Given the description of an element on the screen output the (x, y) to click on. 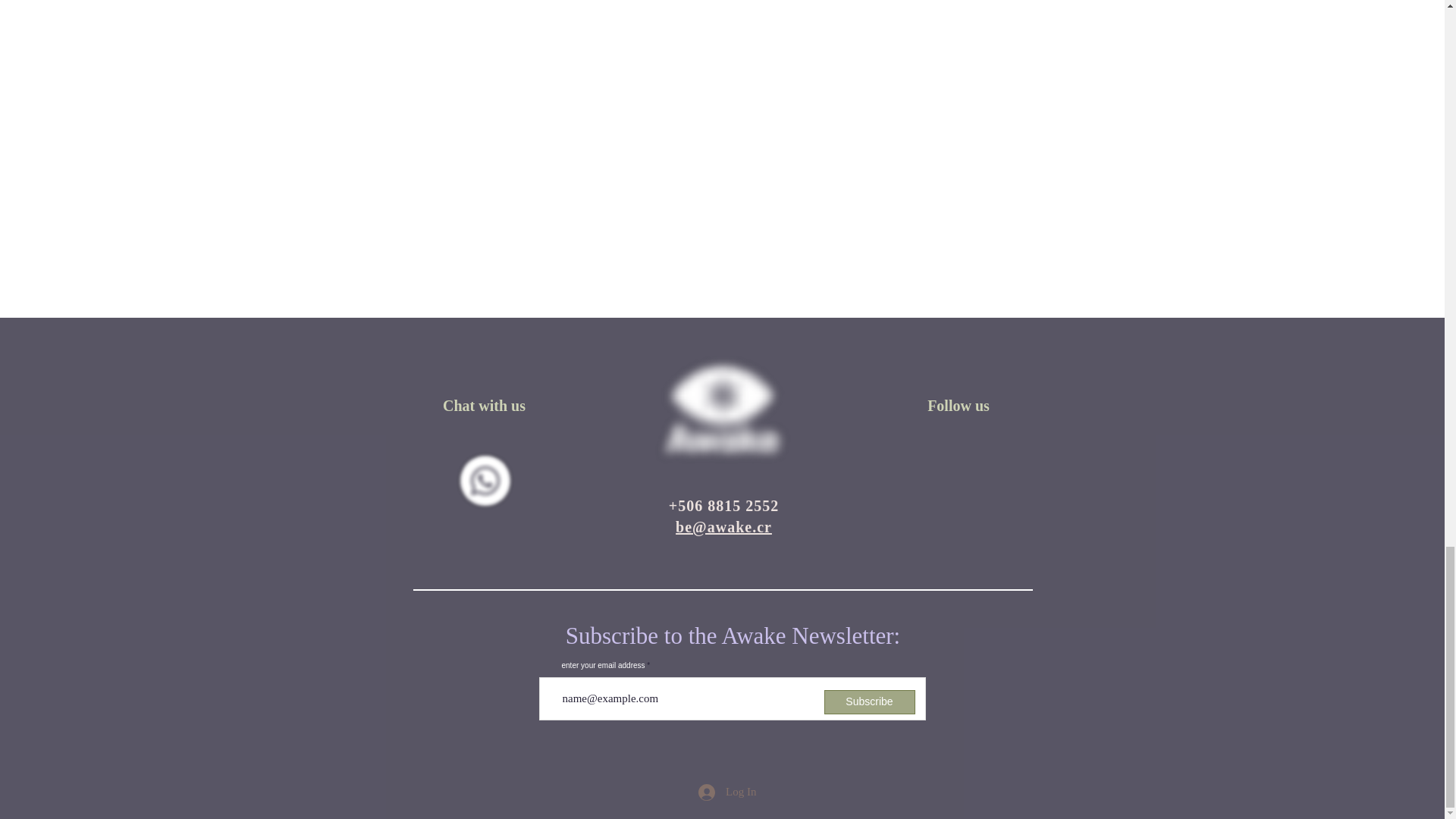
pngfind.com-whatsapp-symbol-png-271886.png (484, 480)
Log In (727, 791)
Subscribe (869, 702)
